Given the description of an element on the screen output the (x, y) to click on. 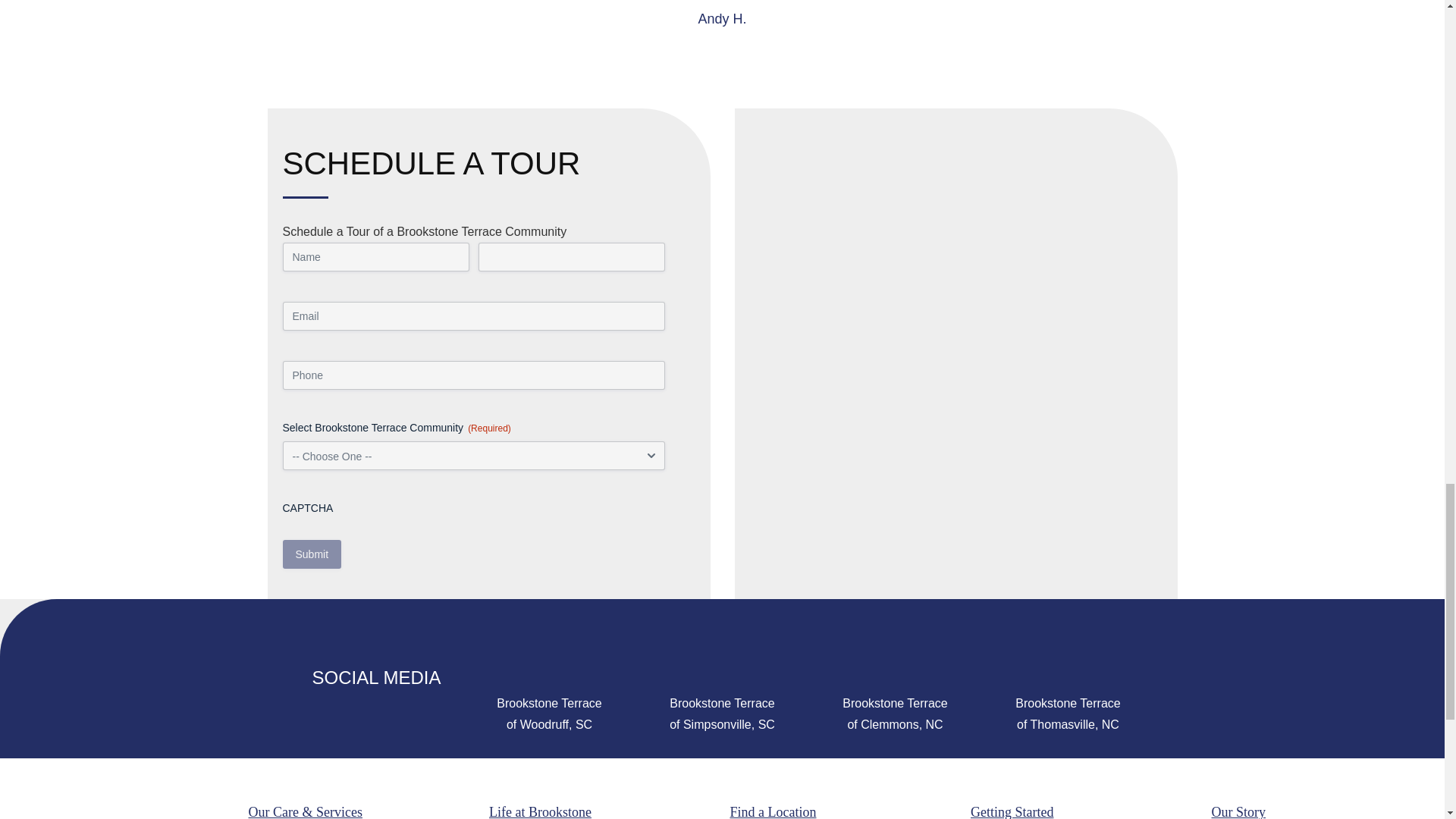
Submit (311, 553)
